Given the description of an element on the screen output the (x, y) to click on. 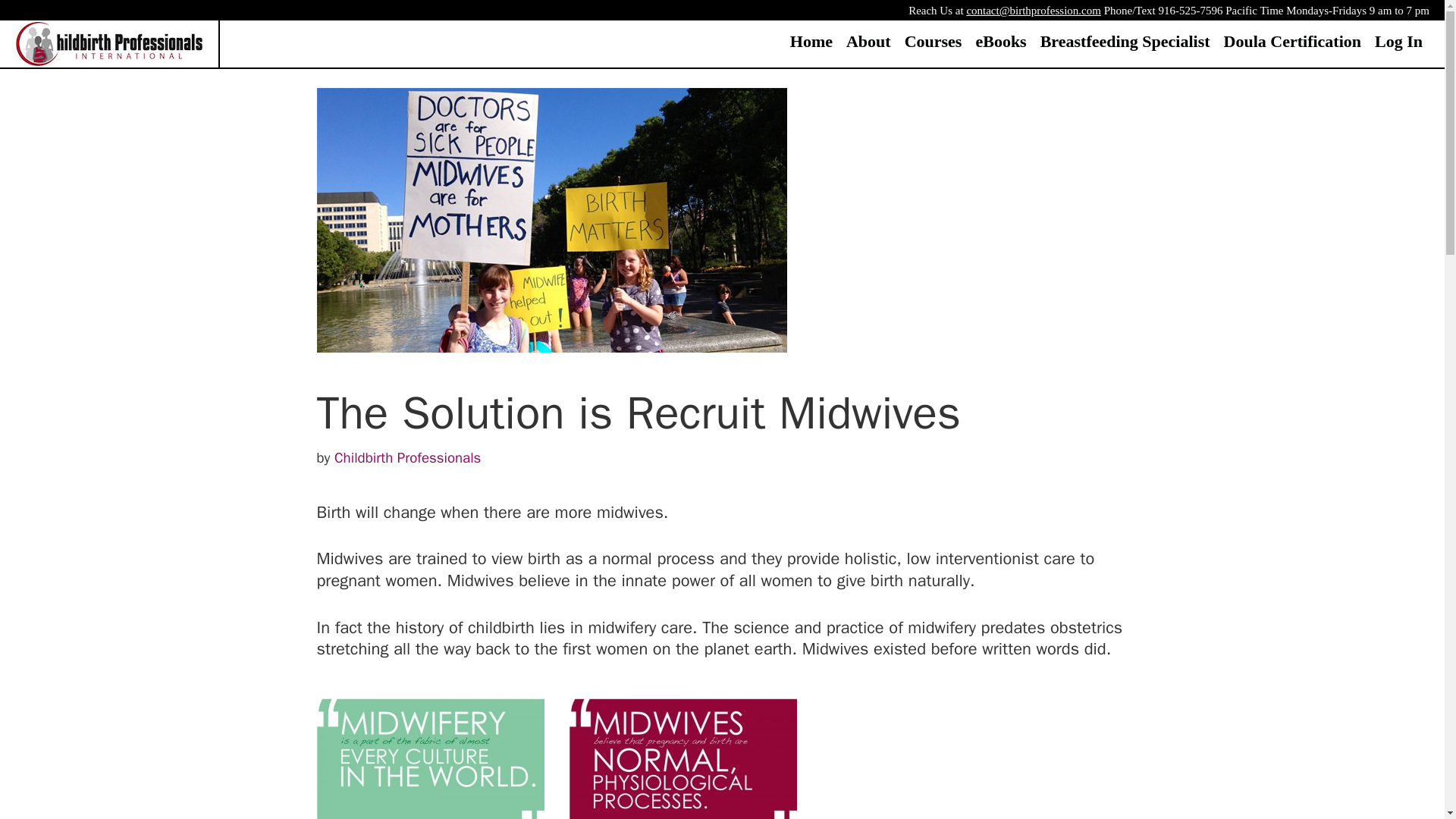
Search (49, 21)
About (869, 40)
ancient midwifery (430, 752)
Doula Certification (1292, 40)
eBooks (1000, 40)
Learn about CPI (869, 40)
Log In (1398, 40)
Childbirth Professionals International (108, 42)
Childbirth Professionals International (108, 42)
Home (811, 40)
View all posts by Childbirth Professionals (407, 457)
Childbirth Professionals (407, 457)
Breastfeeding Specialist (1125, 40)
Midwives and normal birth (682, 752)
CPI Current Courses (933, 40)
